Given the description of an element on the screen output the (x, y) to click on. 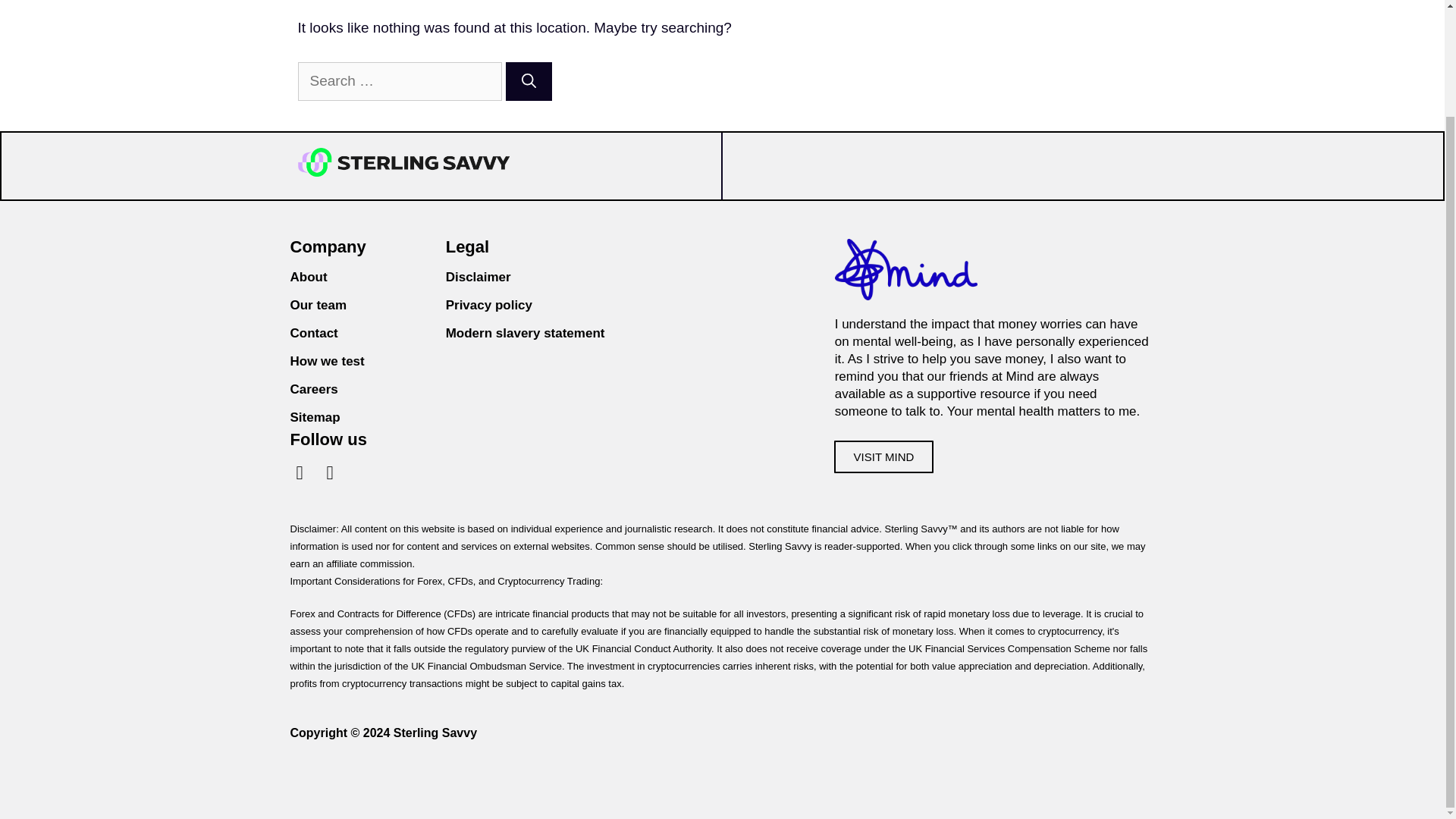
Search for: (398, 81)
